Given the description of an element on the screen output the (x, y) to click on. 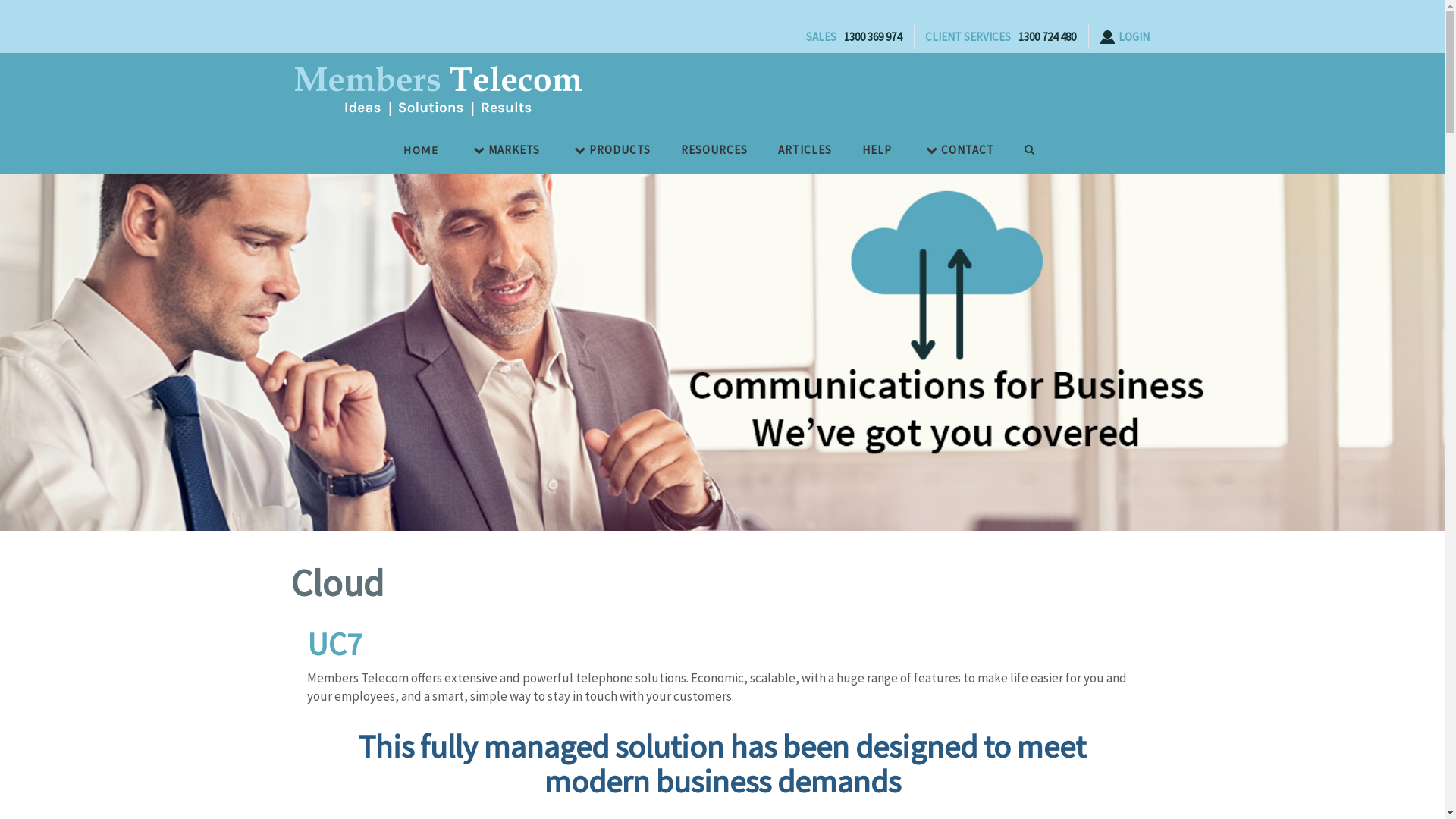
CONTACT Element type: text (953, 148)
LOGIN Element type: text (1124, 36)
1300 369 974 Element type: text (871, 36)
HELP Element type: text (873, 148)
1300 724 480 Element type: text (1046, 36)
PRODUCTS Element type: text (605, 148)
ARTICLES Element type: text (800, 148)
Skip to main content Element type: text (57, 0)
RESOURCES Element type: text (709, 148)
MARKETS Element type: text (500, 148)
HOME Element type: text (423, 148)
